Given the description of an element on the screen output the (x, y) to click on. 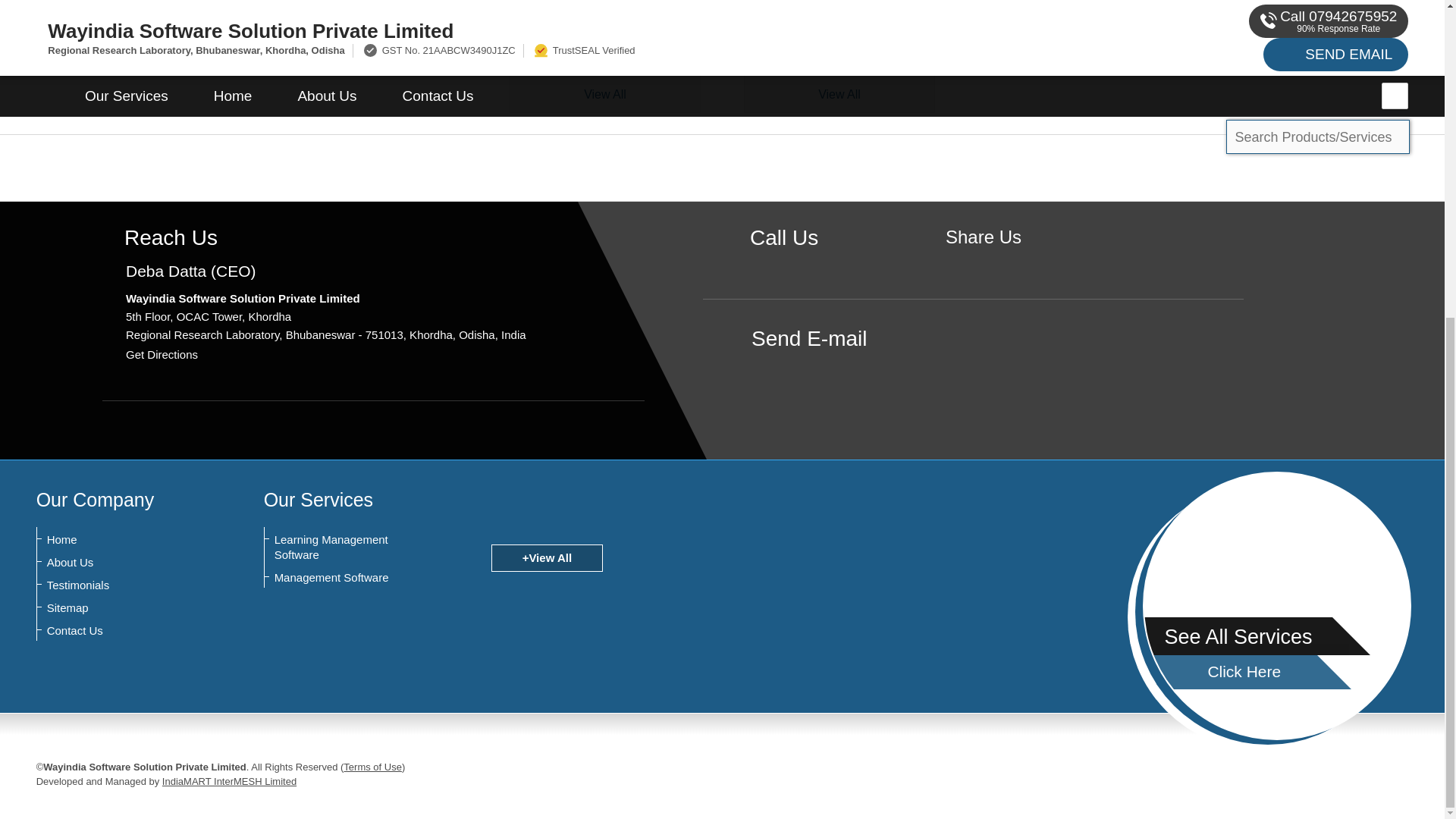
View All (605, 94)
Learning Management Software (348, 547)
View All (839, 94)
Click Here (1235, 672)
Sitemap (121, 607)
IndiaMART InterMESH Limited (229, 781)
Contact Us (121, 630)
E Learning Software (604, 51)
Twitter (1006, 262)
Learning Management Software (605, 7)
About Us (121, 562)
Terms of Use (372, 767)
Testimonials (121, 585)
Our Services (317, 499)
Facebook (983, 262)
